Given the description of an element on the screen output the (x, y) to click on. 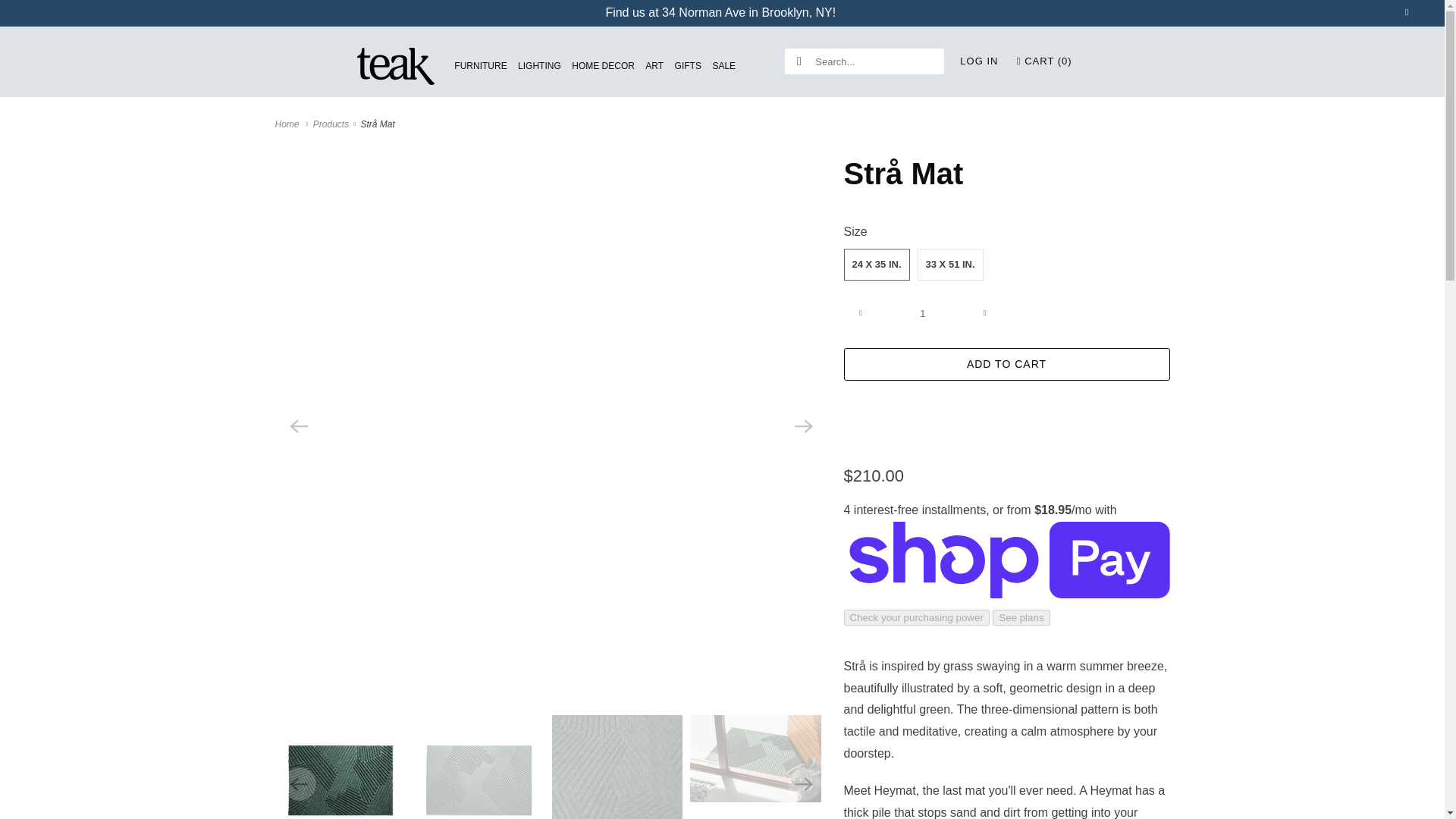
ADD TO CART (1006, 364)
Teak New York (288, 123)
SALE (723, 65)
HOME DECOR (603, 65)
Home (288, 123)
LIGHTING (539, 65)
Products (332, 123)
FURNITURE (480, 65)
GIFTS (688, 65)
Teak New York (395, 66)
1 (922, 313)
LOG IN (978, 60)
Products (332, 123)
